Given the description of an element on the screen output the (x, y) to click on. 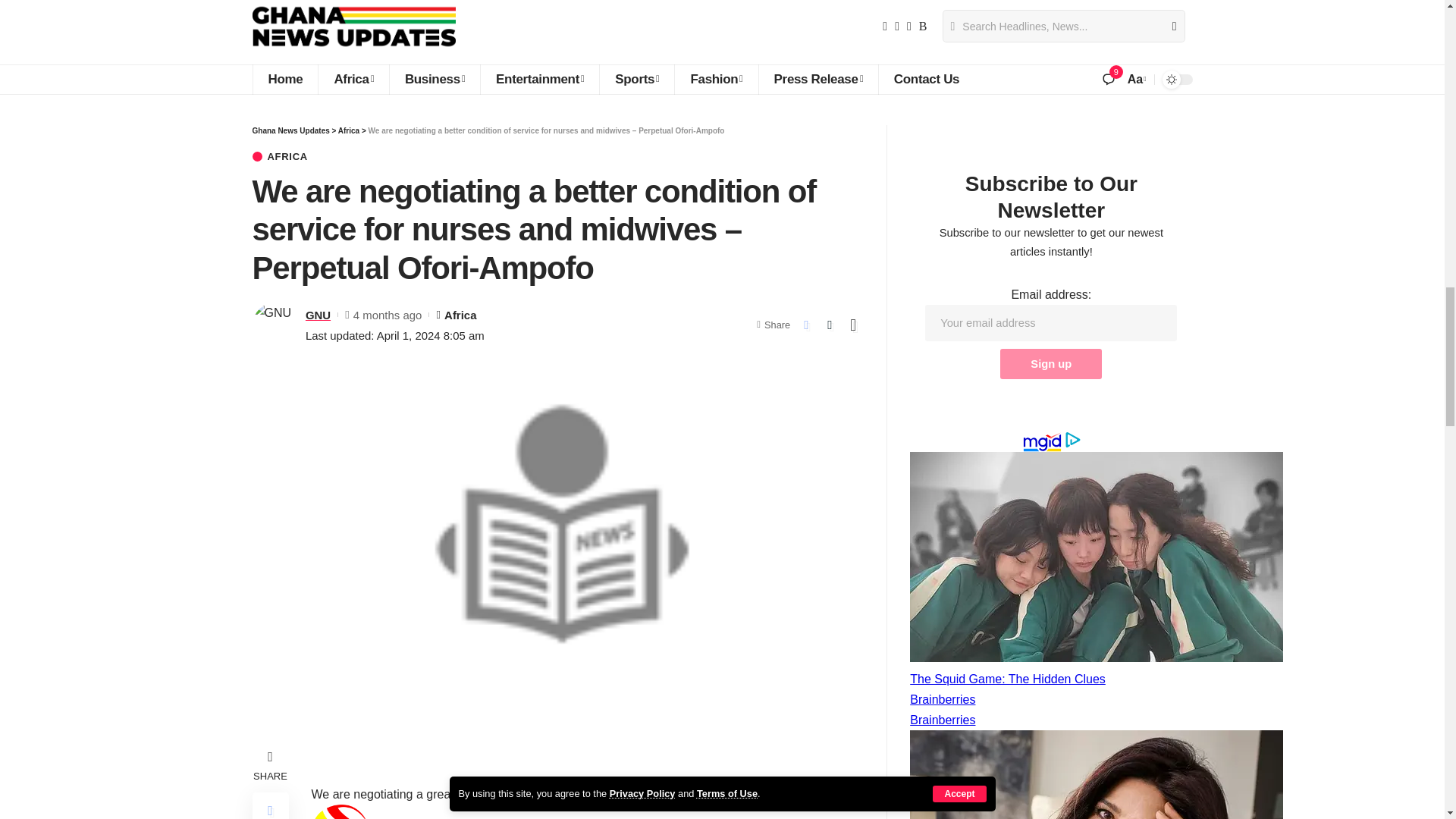
Ghana News Updates (353, 26)
Africa (352, 79)
Search (1168, 26)
Business (434, 79)
Home (284, 79)
Sign up (1051, 363)
Entertainment (539, 79)
